Given the description of an element on the screen output the (x, y) to click on. 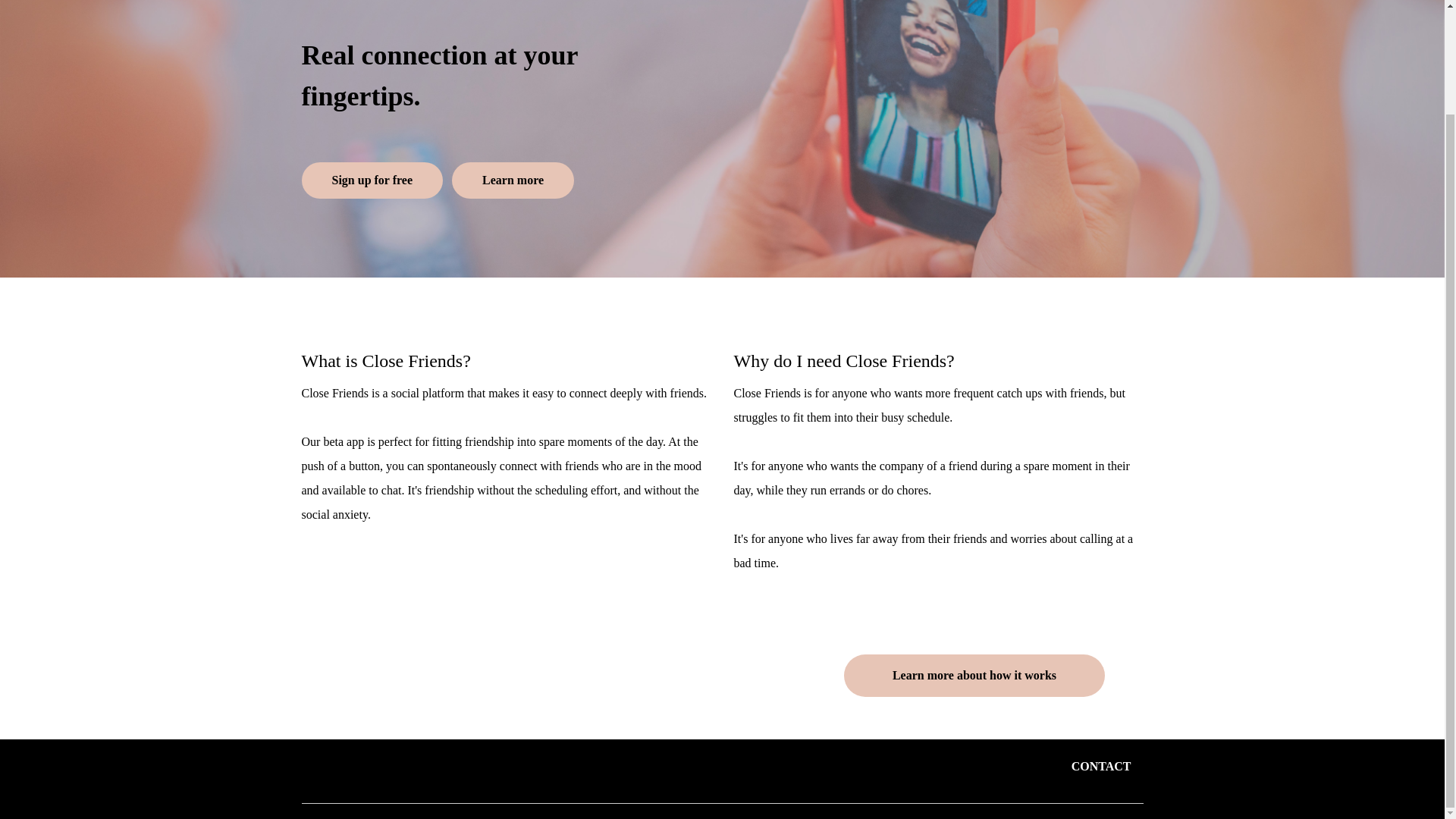
Learn more about how it works (974, 675)
CONTACT (1100, 766)
Sign up for free (372, 180)
Learn more (512, 180)
